Given the description of an element on the screen output the (x, y) to click on. 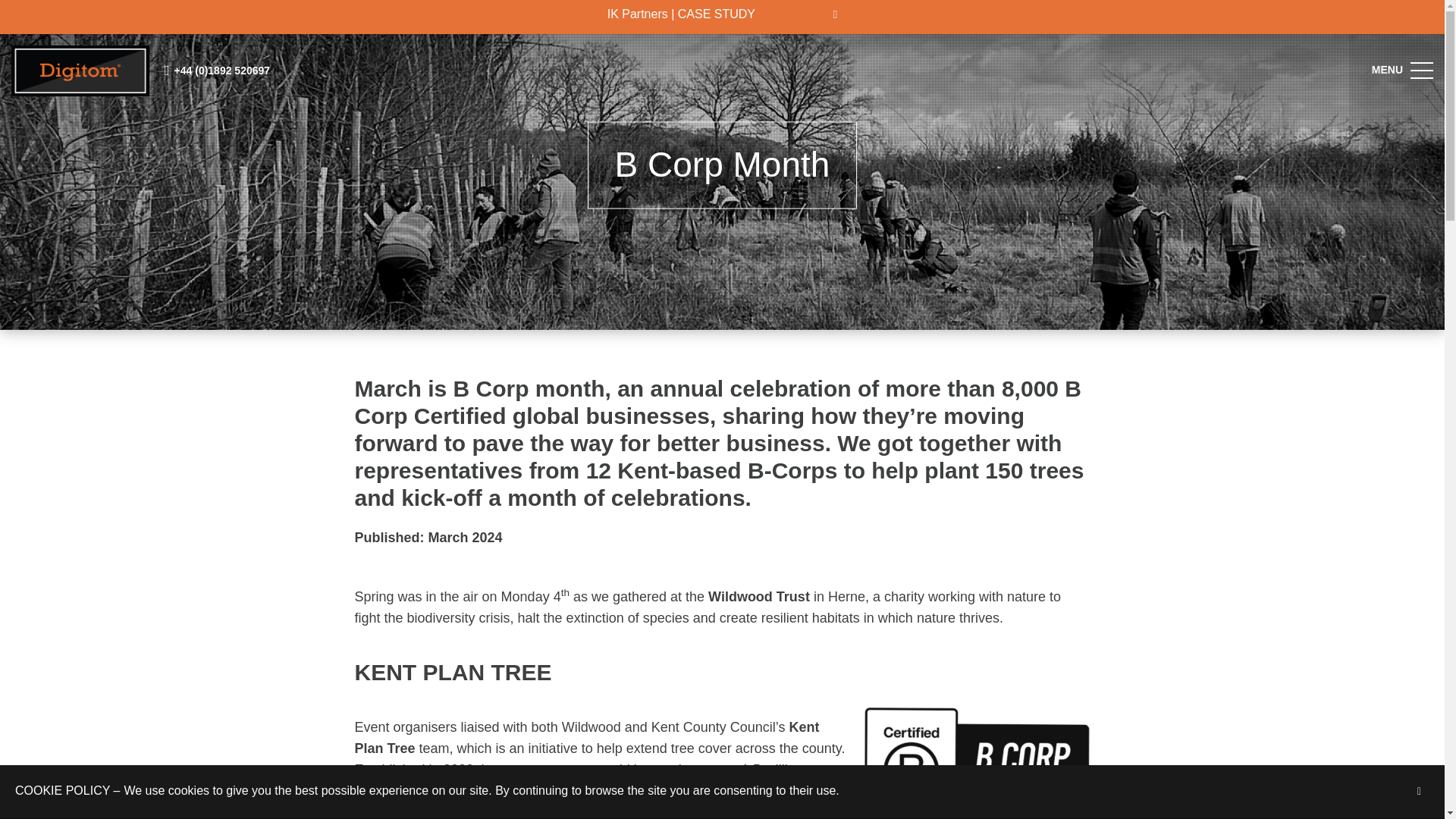
Wildwood Trust (758, 596)
Kent Plan Tree (587, 737)
Menu (1421, 70)
MENU (1421, 70)
